Given the description of an element on the screen output the (x, y) to click on. 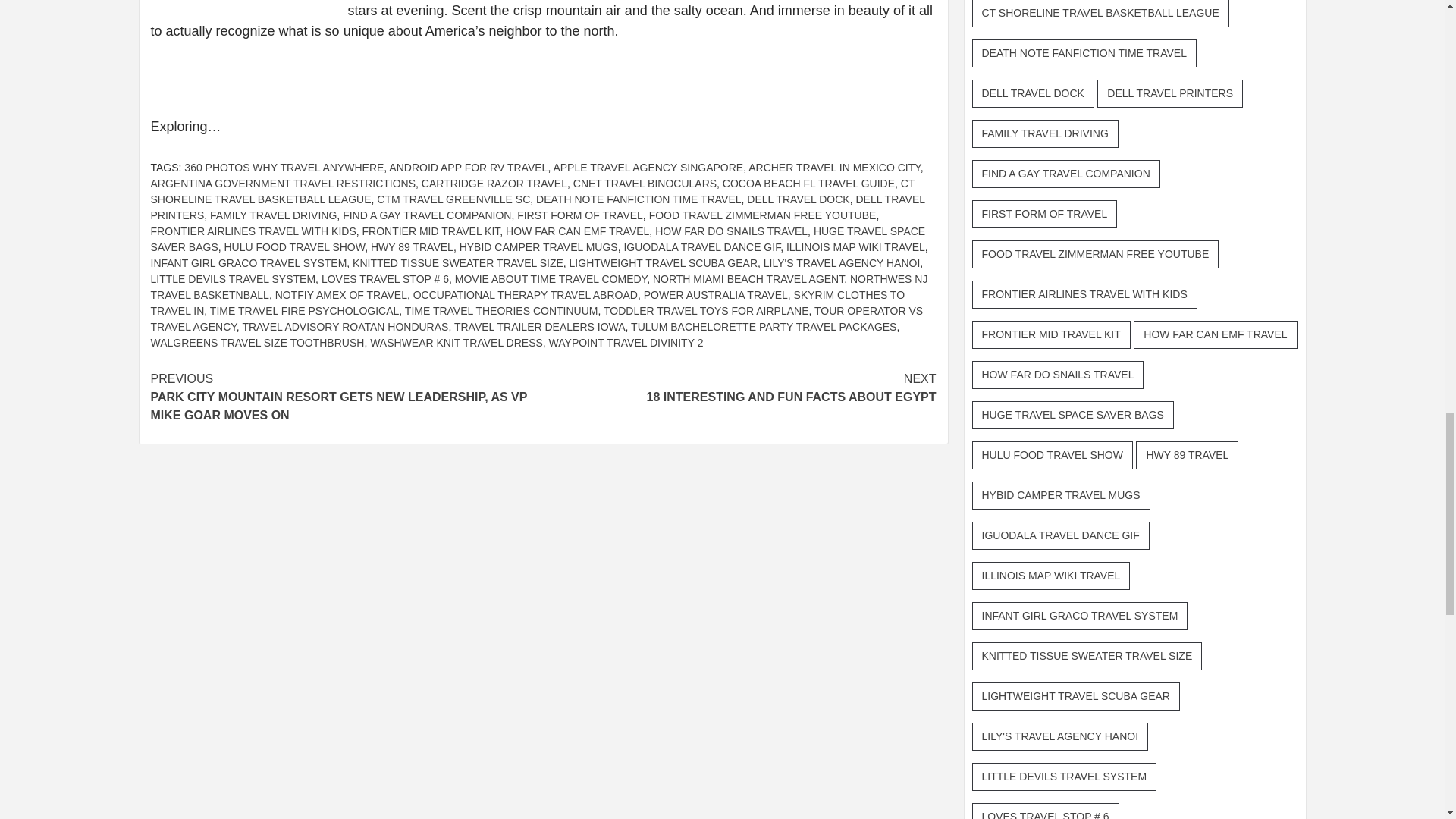
COCOA BEACH FL TRAVEL GUIDE (808, 183)
360 PHOTOS WHY TRAVEL ANYWHERE (284, 167)
CT SHORELINE TRAVEL BASKETBALL LEAGUE (531, 191)
APPLE TRAVEL AGENCY SINGAPORE (647, 167)
FIND A GAY TRAVEL COMPANION (426, 215)
FRONTIER AIRLINES TRAVEL WITH KIDS (252, 231)
CARTRIDGE RAZOR TRAVEL (494, 183)
FOOD TRAVEL ZIMMERMAN FREE YOUTUBE (762, 215)
CNET TRAVEL BINOCULARS (644, 183)
FRONTIER MID TRAVEL KIT (431, 231)
DEATH NOTE FANFICTION TIME TRAVEL (638, 199)
DELL TRAVEL PRINTERS (536, 207)
FAMILY TRAVEL DRIVING (272, 215)
ARCHER TRAVEL IN MEXICO CITY (834, 167)
DELL TRAVEL DOCK (797, 199)
